Given the description of an element on the screen output the (x, y) to click on. 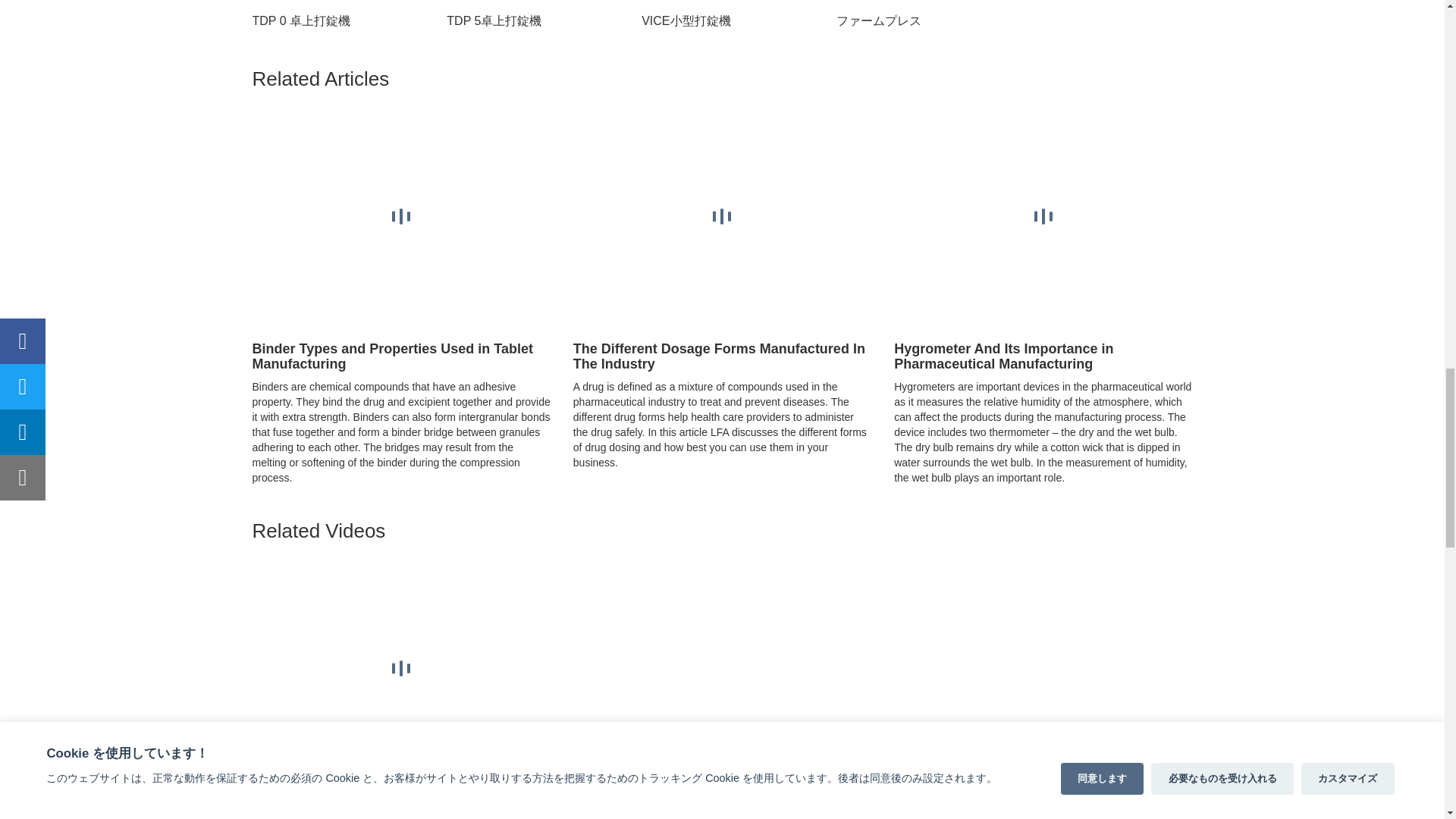
White sugar and brown sugar in a bowl (721, 322)
Binder Types and Properties Used in Tablet Manufacturing (400, 322)
